Given the description of an element on the screen output the (x, y) to click on. 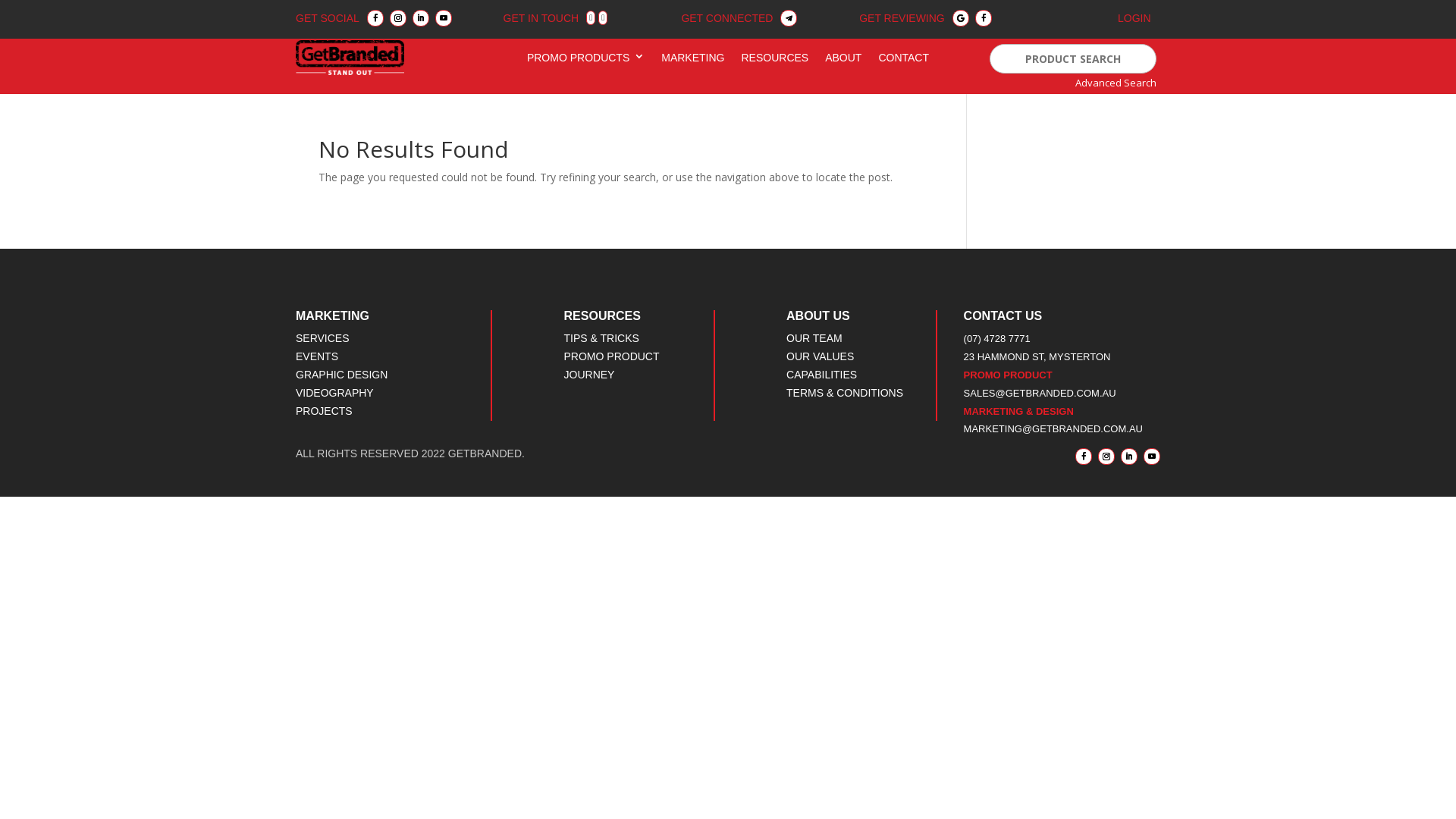
Follow on LinkedIn Element type: hover (420, 17)
CONTACT Element type: text (903, 60)
Follow on Facebook Element type: hover (983, 17)
JOURNEY Element type: text (589, 374)
PROMO PRODUCTS Element type: text (585, 60)
Follow on Facebook Element type: hover (375, 17)
Get_Branded_Logo_mono_double Element type: hover (349, 57)
Search Element type: text (22, 9)
Follow on Youtube Element type: hover (443, 17)
Follow on LinkedIn Element type: hover (1128, 456)
VIDEOGRAPHY Element type: text (334, 392)
GRAPHIC DESIGN Element type: text (341, 374)
TERMS & CONDITIONS Element type: text (844, 392)
Follow on Instagram Element type: hover (397, 17)
ABOUT Element type: text (843, 60)
Follow on Instagram Element type: hover (1106, 456)
RESOURCES Element type: text (774, 60)
EVENTS Element type: text (316, 356)
Follow on Google Element type: hover (960, 17)
SERVICES Element type: text (322, 338)
PROJECTS Element type: text (323, 410)
OUR TEAM Element type: text (814, 338)
MARKETING Element type: text (692, 60)
Follow on Youtube Element type: hover (1151, 456)
Advanced Search Element type: text (1115, 82)
Follow on Telegram Element type: hover (788, 17)
PROMO PRODUCT Element type: text (611, 356)
Follow on Facebook Element type: hover (1083, 456)
TIPS & TRICKS Element type: text (601, 338)
